Given the description of an element on the screen output the (x, y) to click on. 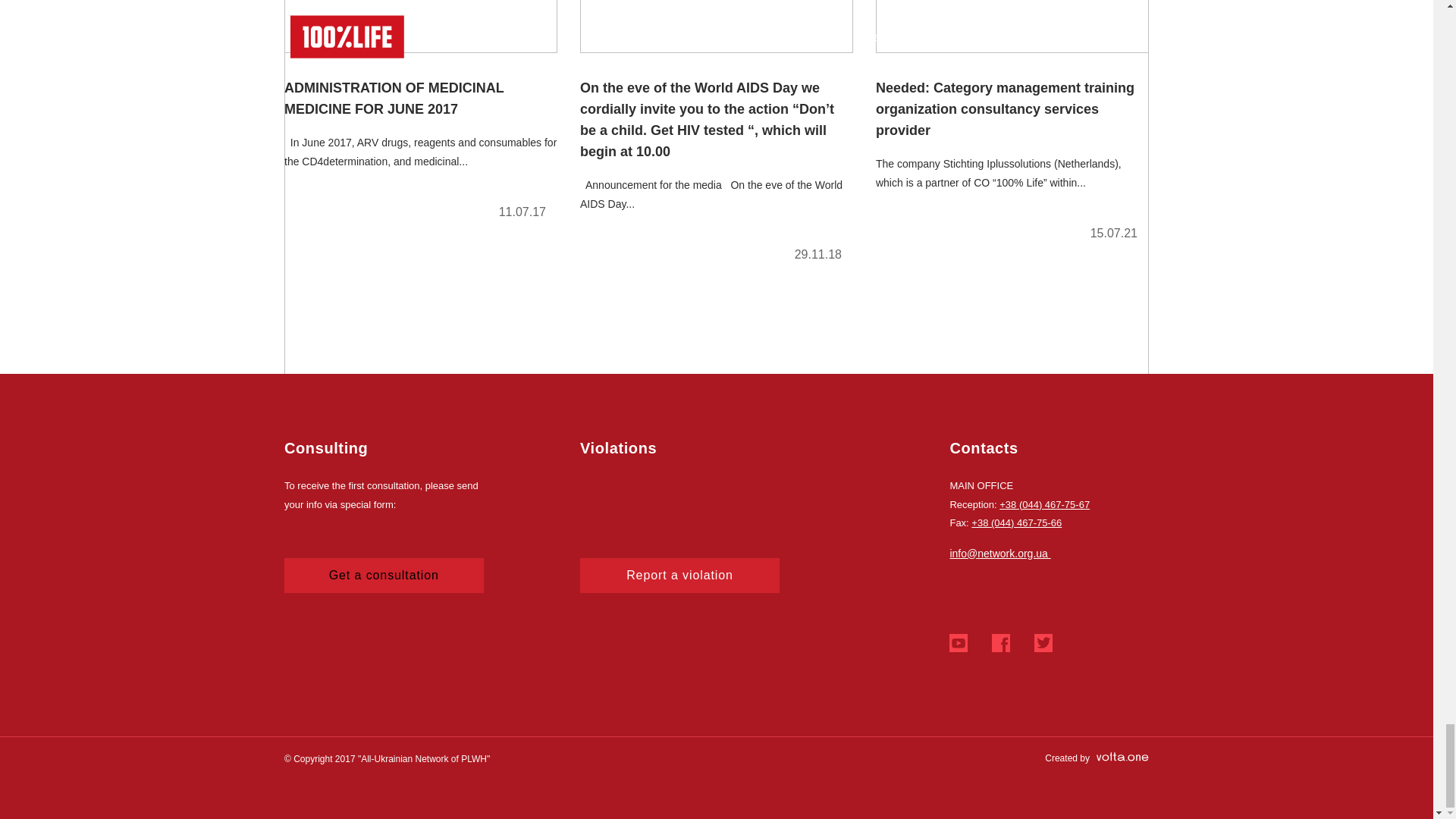
Report a violation (678, 574)
Get a consultation (383, 574)
Get a consultation (383, 574)
Report a violation (678, 574)
ADMINISTRATION OF MEDICINAL MEDICINE FOR JUNE 2017 (420, 116)
Created by (1096, 757)
